Given the description of an element on the screen output the (x, y) to click on. 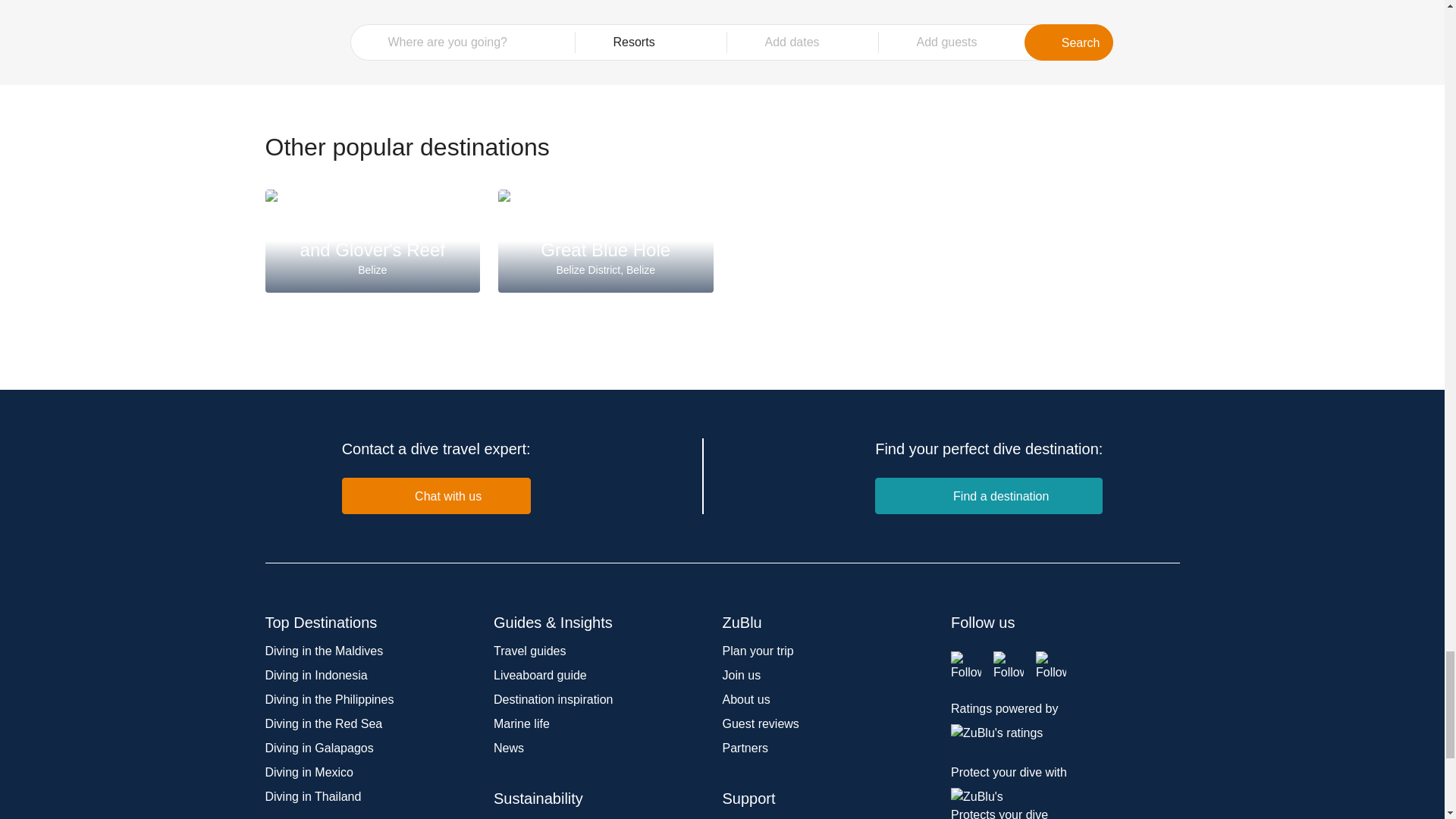
Portofino Beach Resort (306, 3)
Diving in Indonesia (316, 675)
Chat with us (436, 495)
Find a destination (988, 495)
1726 reviews (372, 240)
Xanadu Island Resort (611, 2)
937 reviews (538, 3)
Diving in the Maldives (377, 2)
